Given the description of an element on the screen output the (x, y) to click on. 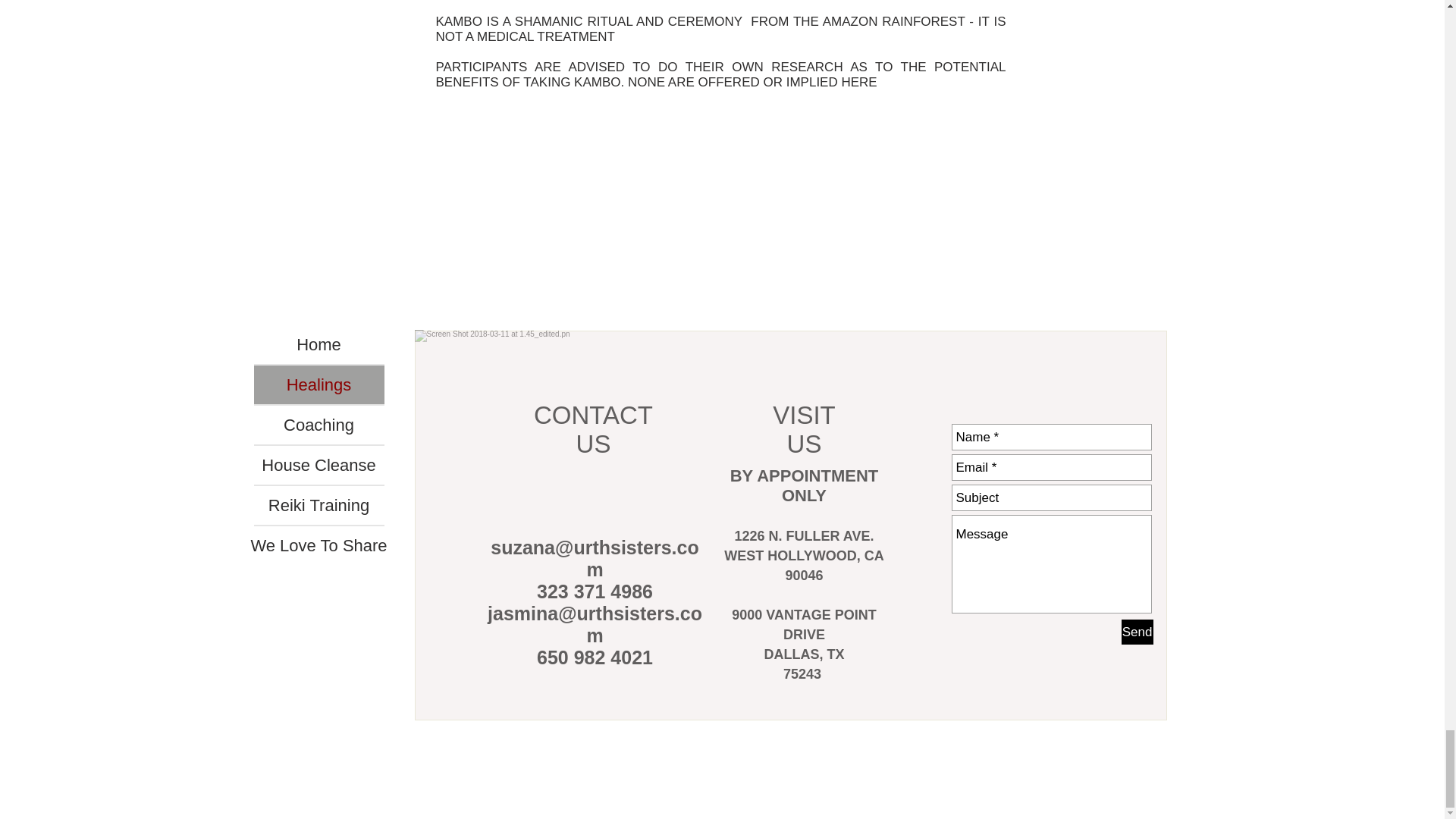
Send (1137, 631)
We Love To Share (318, 545)
Reiki Training (318, 505)
House Cleanse (318, 464)
Healings (318, 384)
Coaching (318, 424)
Home (318, 344)
